Given the description of an element on the screen output the (x, y) to click on. 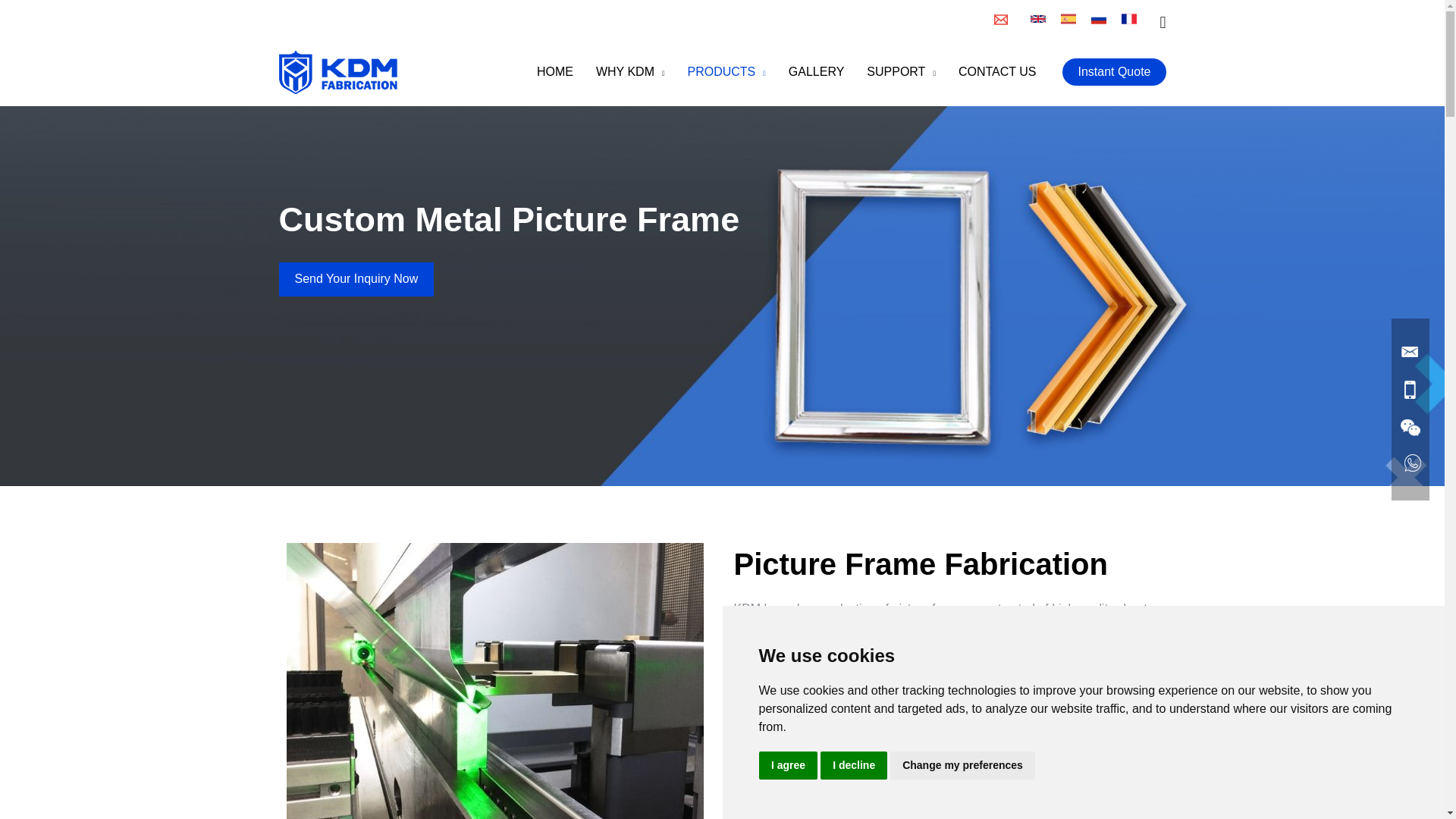
Change my preferences (962, 765)
I decline (853, 765)
HOME (555, 71)
I agree (787, 765)
WHY KDM (631, 71)
